Given the description of an element on the screen output the (x, y) to click on. 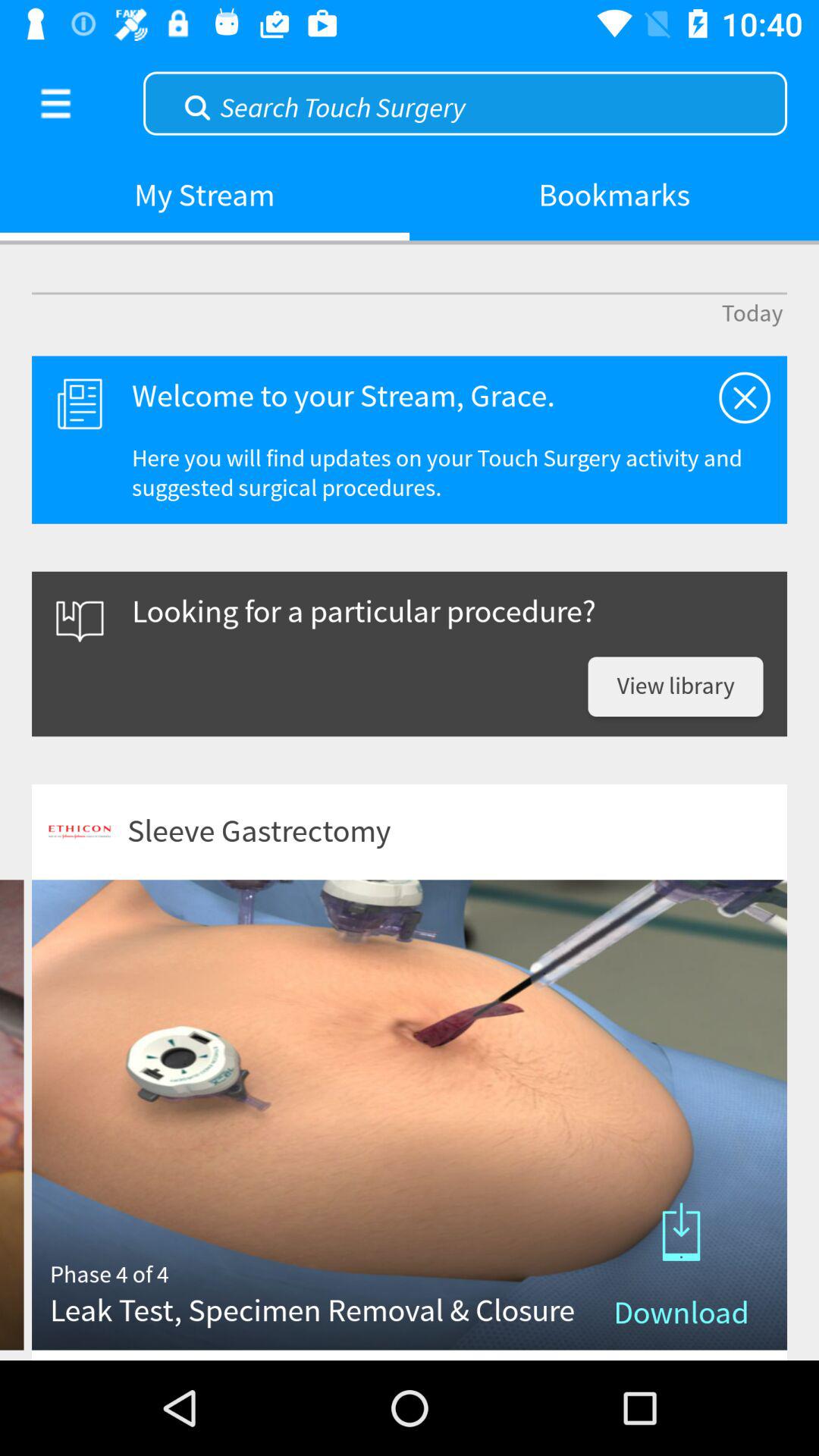
jump until the view library item (675, 686)
